Given the description of an element on the screen output the (x, y) to click on. 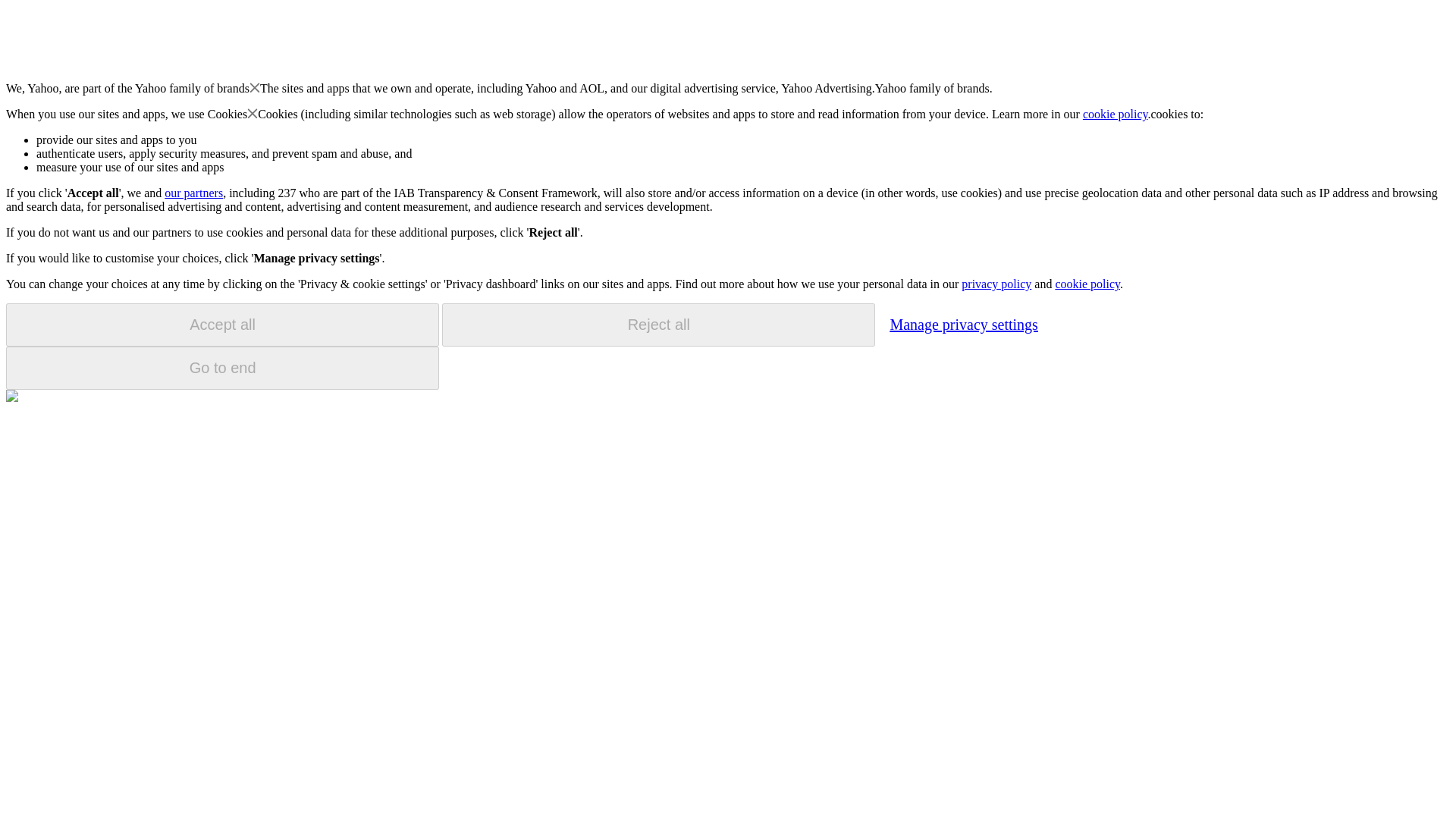
Accept all (222, 324)
privacy policy (995, 283)
cookie policy (1115, 113)
Go to end (222, 367)
Reject all (658, 324)
cookie policy (1086, 283)
Manage privacy settings (963, 323)
our partners (193, 192)
